Given the description of an element on the screen output the (x, y) to click on. 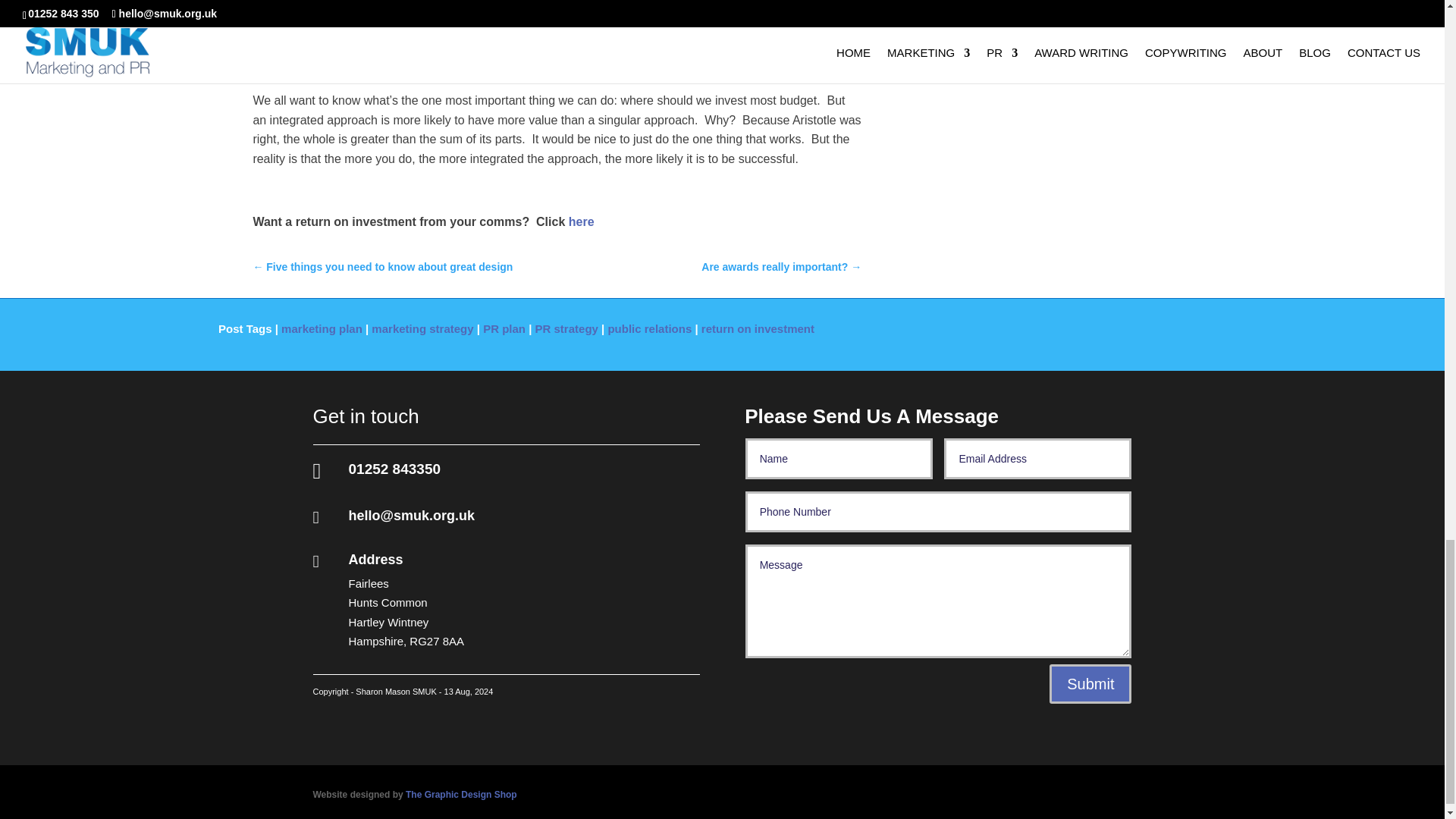
PR strategy (566, 328)
Submit (1090, 683)
PR, Public Relations (581, 221)
return on investment (757, 328)
PR plan (504, 328)
marketing plan (321, 328)
The Graphic Design Shop (461, 794)
public relations (649, 328)
here (581, 221)
marketing strategy (422, 328)
